Given the description of an element on the screen output the (x, y) to click on. 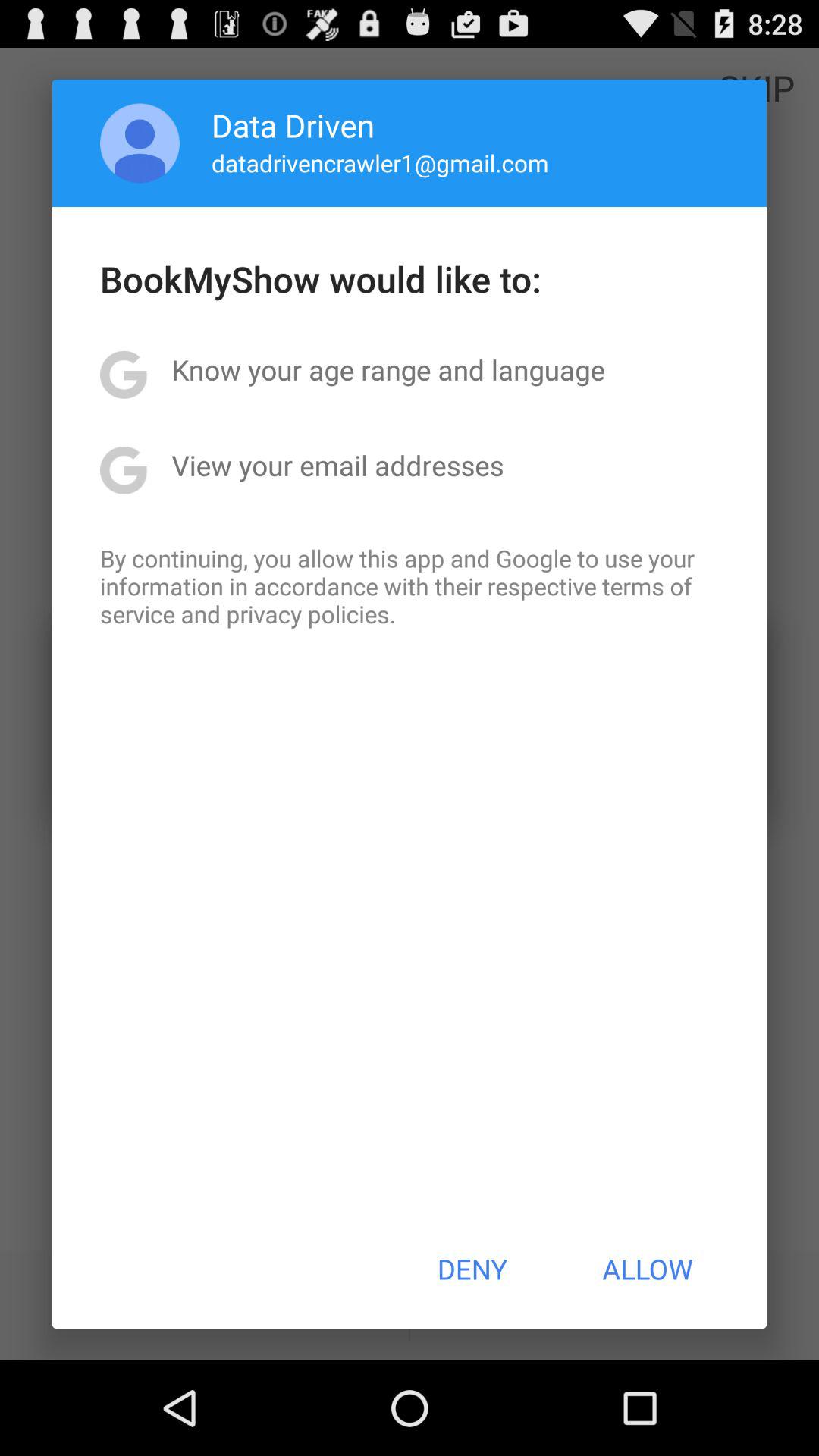
tap app above bookmyshow would like app (379, 162)
